Given the description of an element on the screen output the (x, y) to click on. 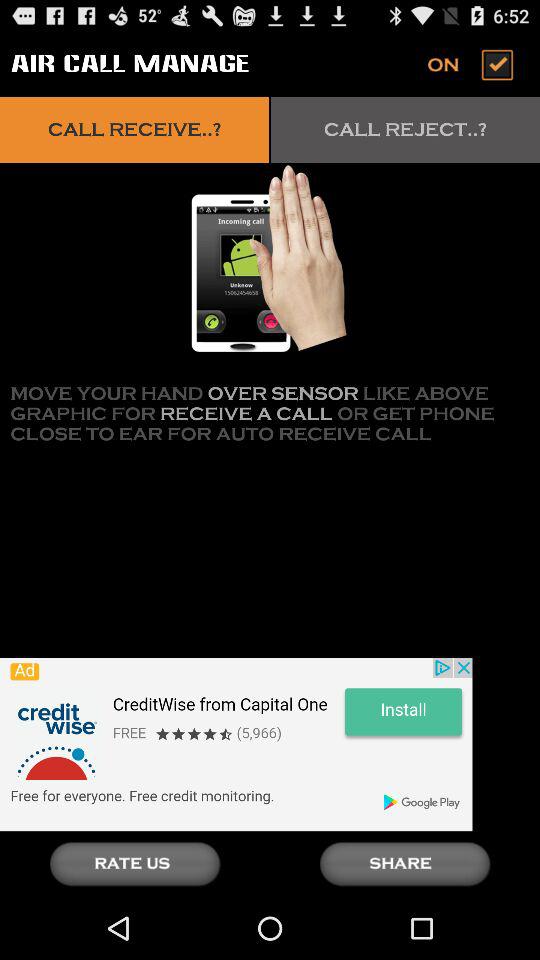
advertising app (236, 744)
